Given the description of an element on the screen output the (x, y) to click on. 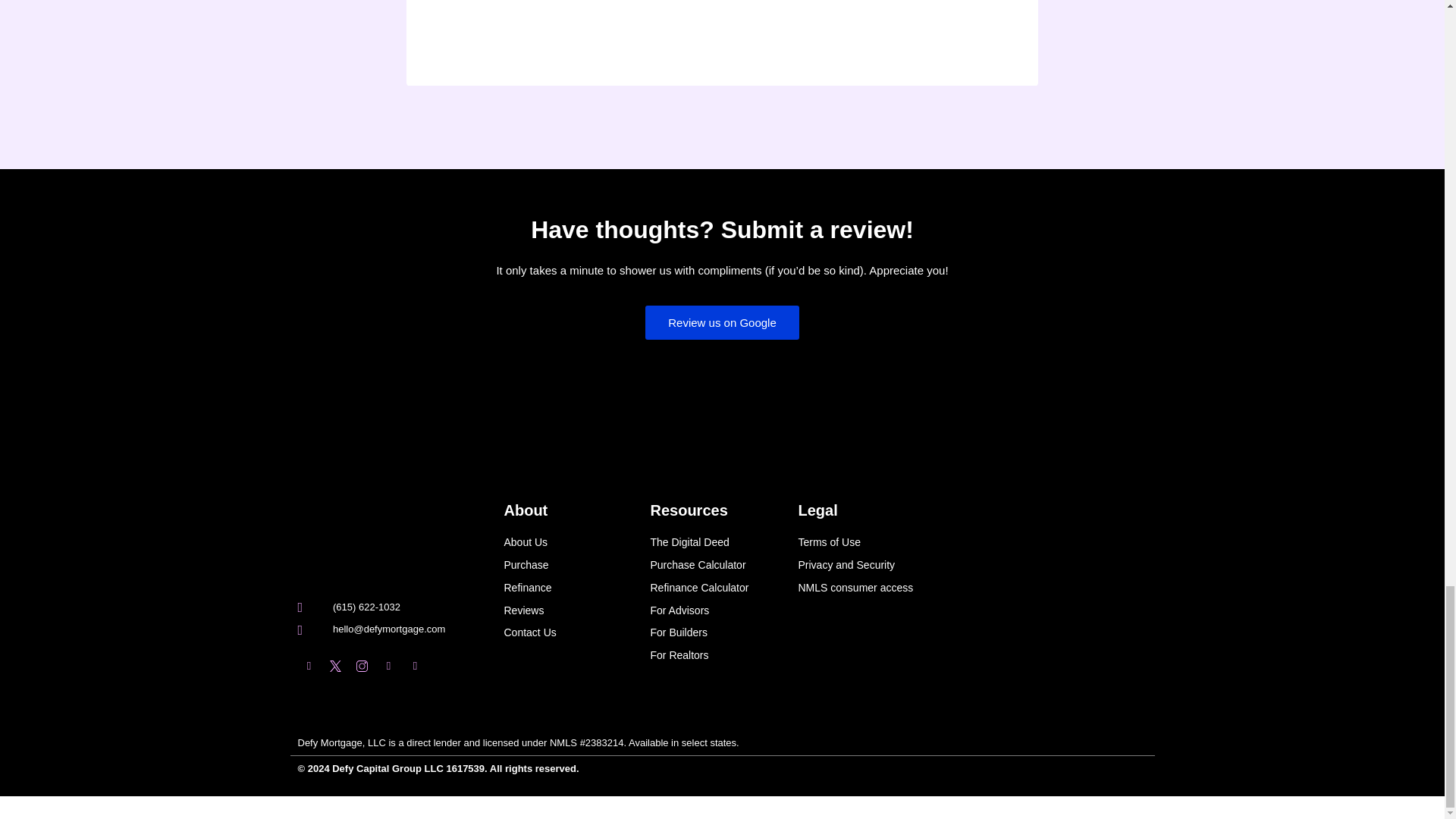
Review us on Google (722, 322)
Reviews 1 (556, 379)
Reviews 2 (642, 379)
